Given the description of an element on the screen output the (x, y) to click on. 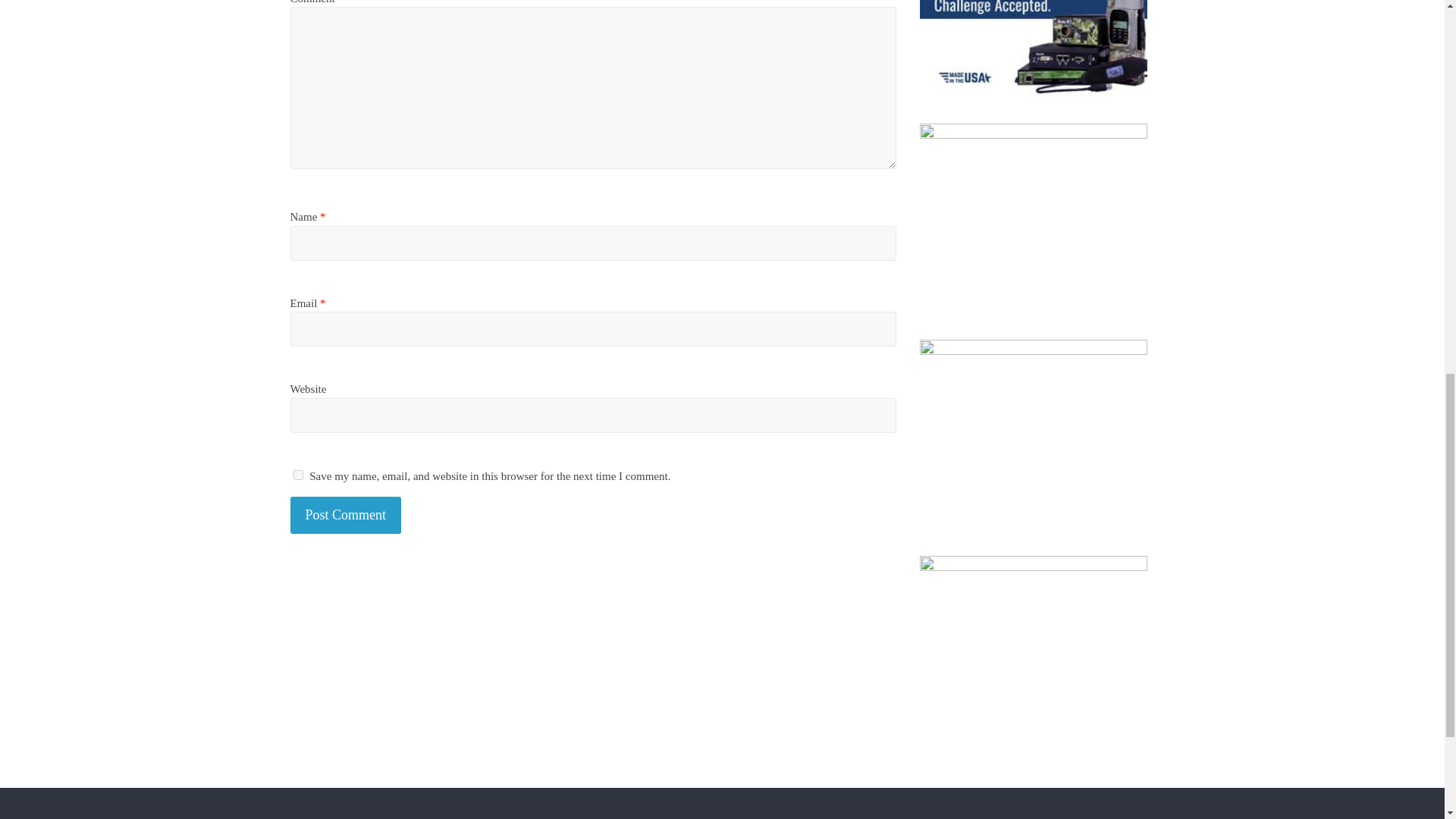
Post Comment (345, 514)
Post Comment (345, 514)
yes (297, 474)
